Given the description of an element on the screen output the (x, y) to click on. 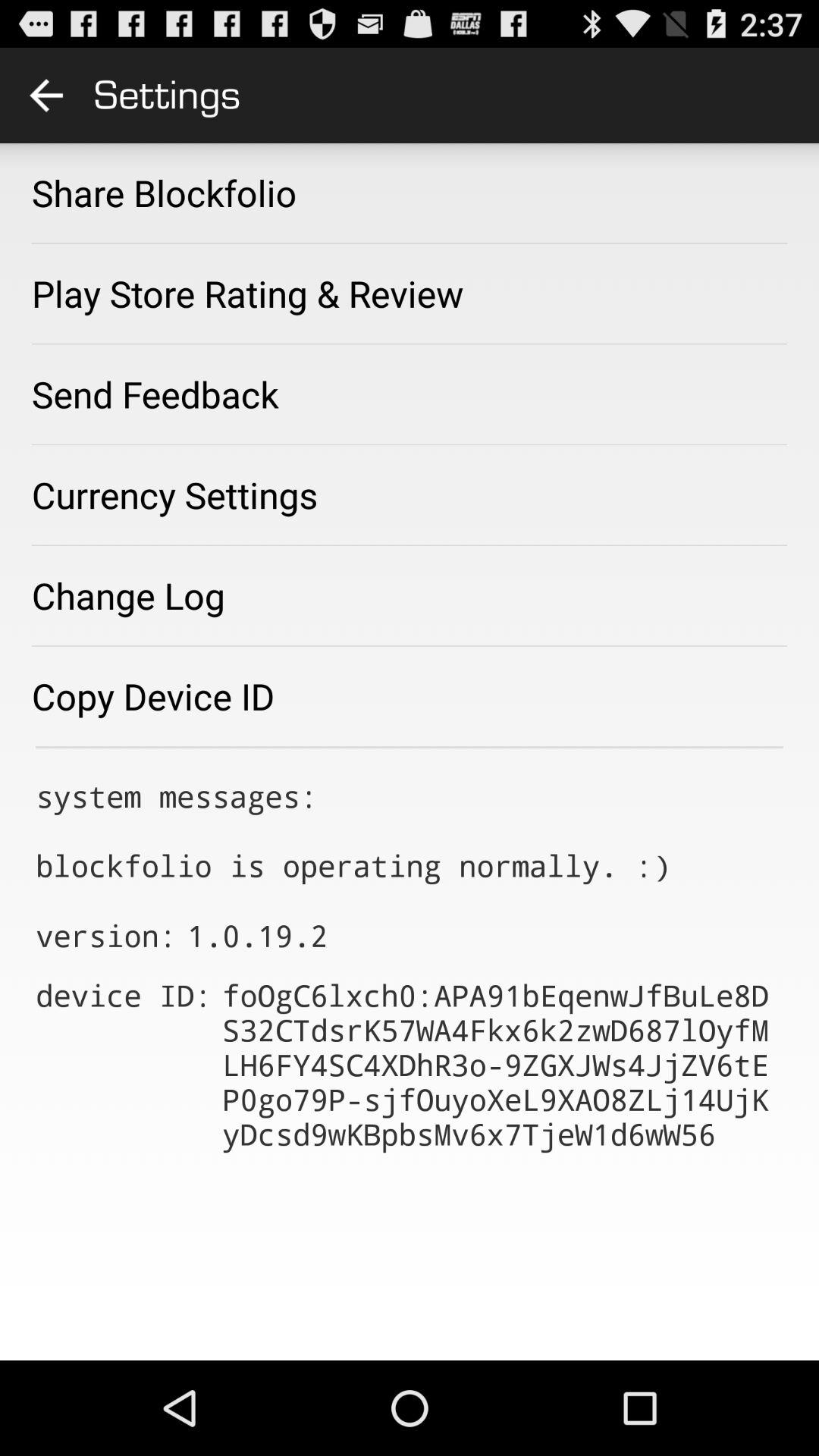
choose icon below currency settings (128, 595)
